Given the description of an element on the screen output the (x, y) to click on. 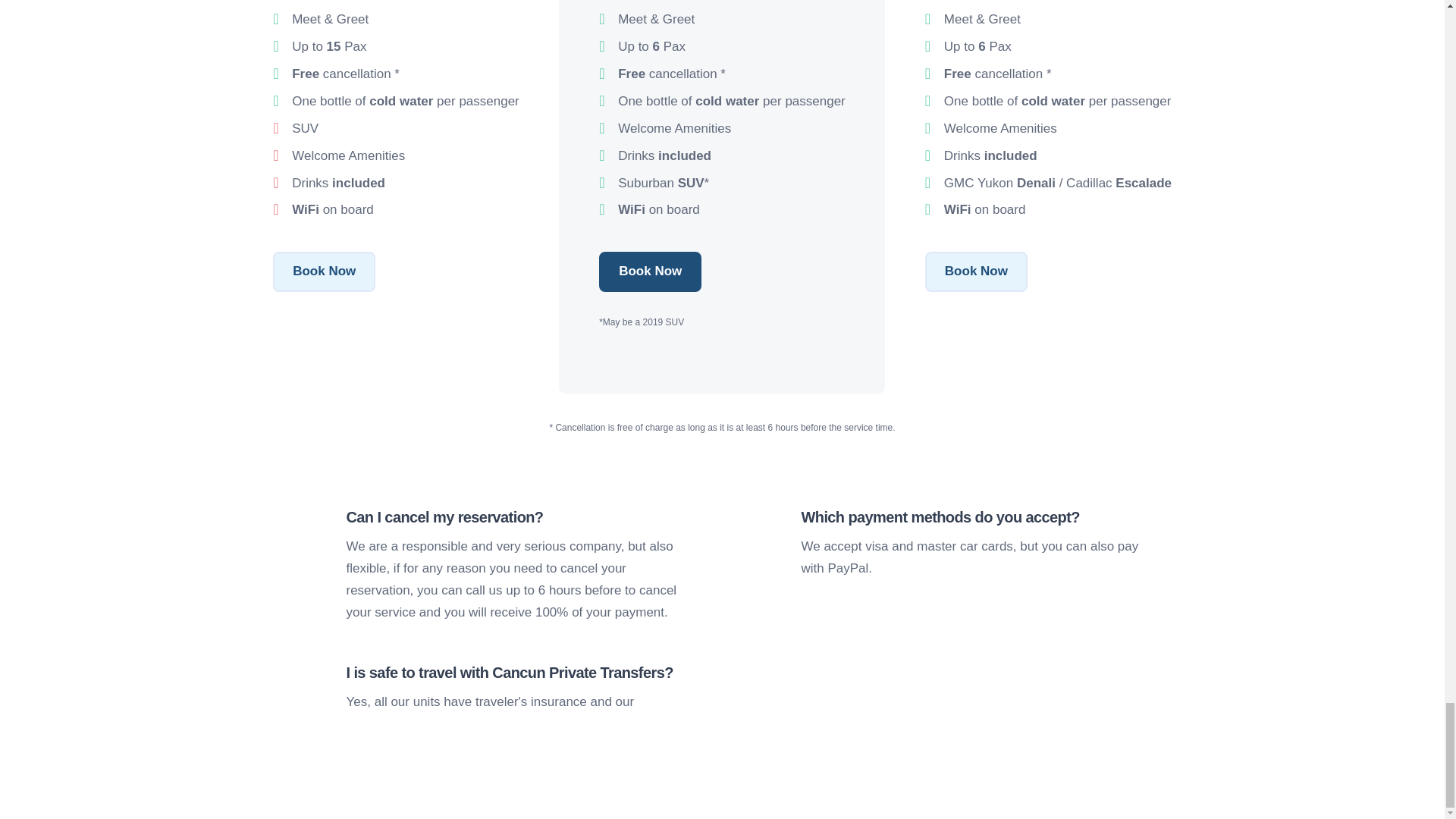
Book Now (975, 271)
Book Now (324, 271)
Book Now (649, 271)
